Given the description of an element on the screen output the (x, y) to click on. 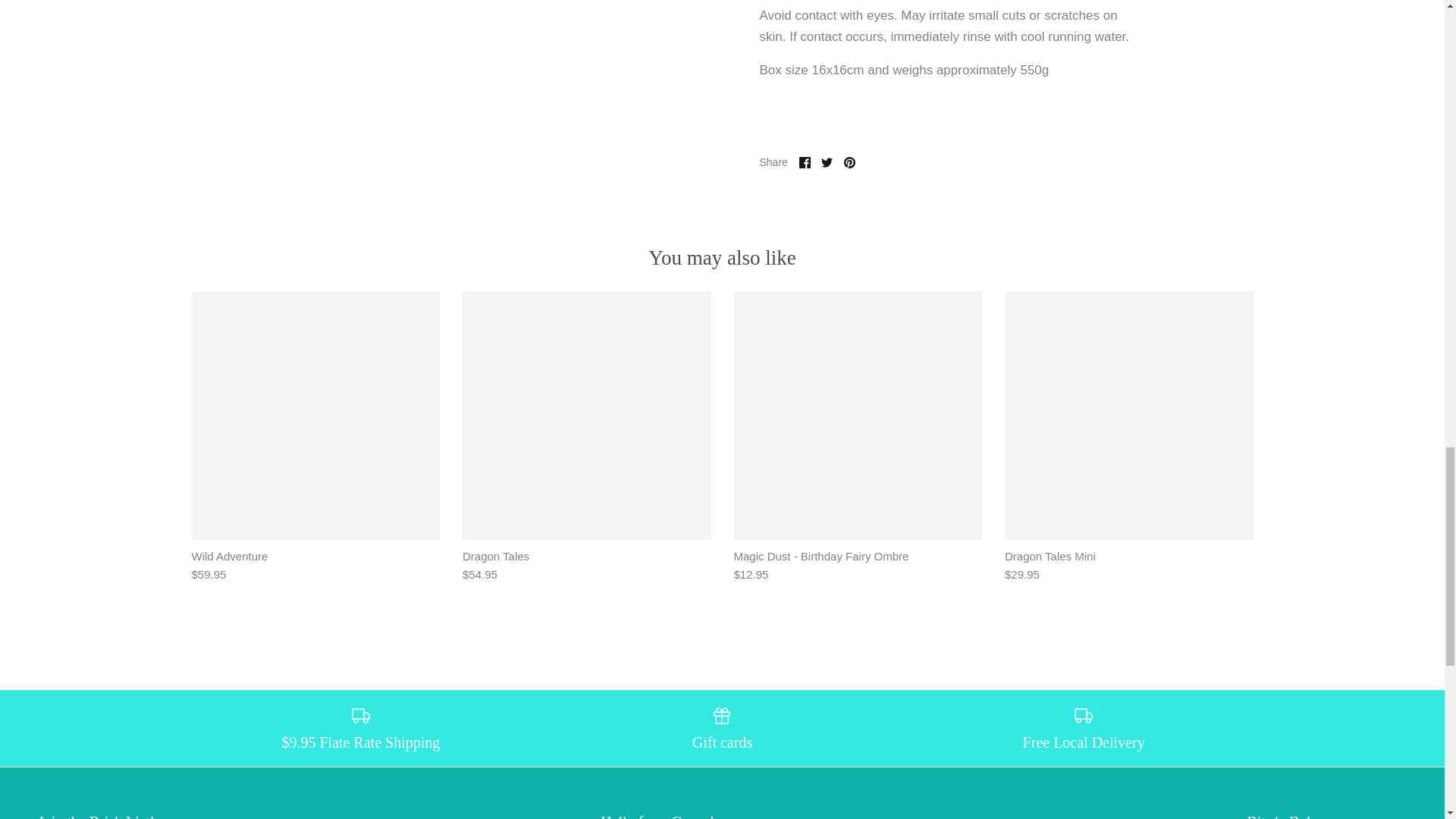
Pinterest (850, 162)
Twitter (826, 162)
Facebook (804, 162)
